Given the description of an element on the screen output the (x, y) to click on. 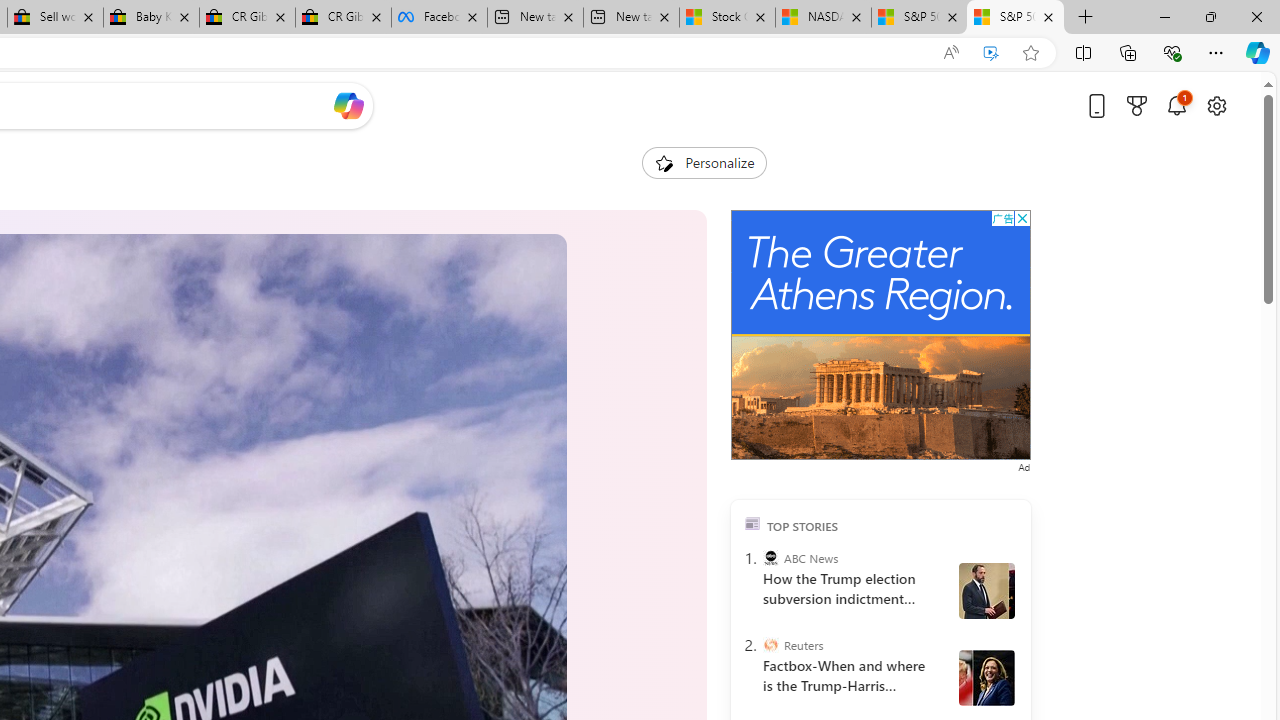
Enhance video (991, 53)
AutomationID: cbb (1021, 218)
ABC News (770, 557)
Advertisement (879, 335)
Reuters (770, 645)
